Given the description of an element on the screen output the (x, y) to click on. 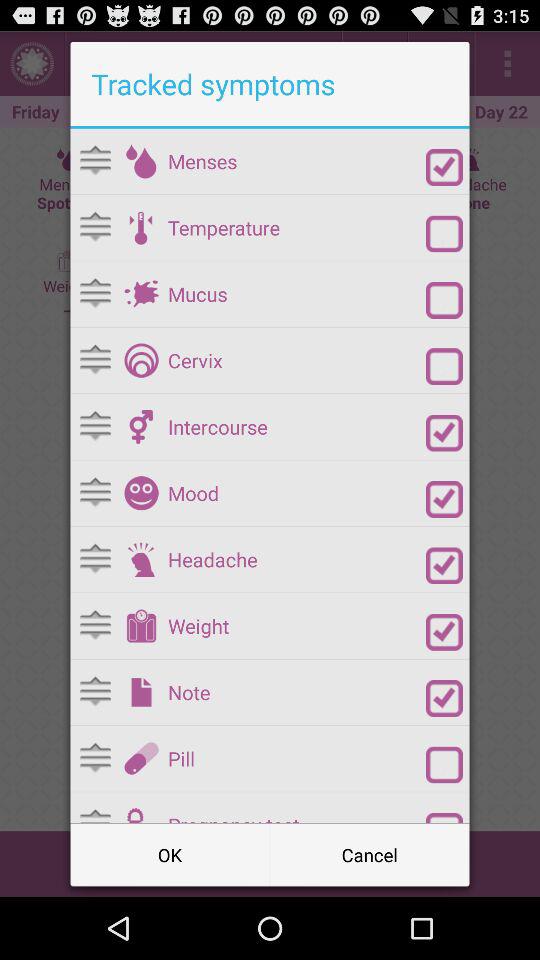
manage weight (141, 626)
